Given the description of an element on the screen output the (x, y) to click on. 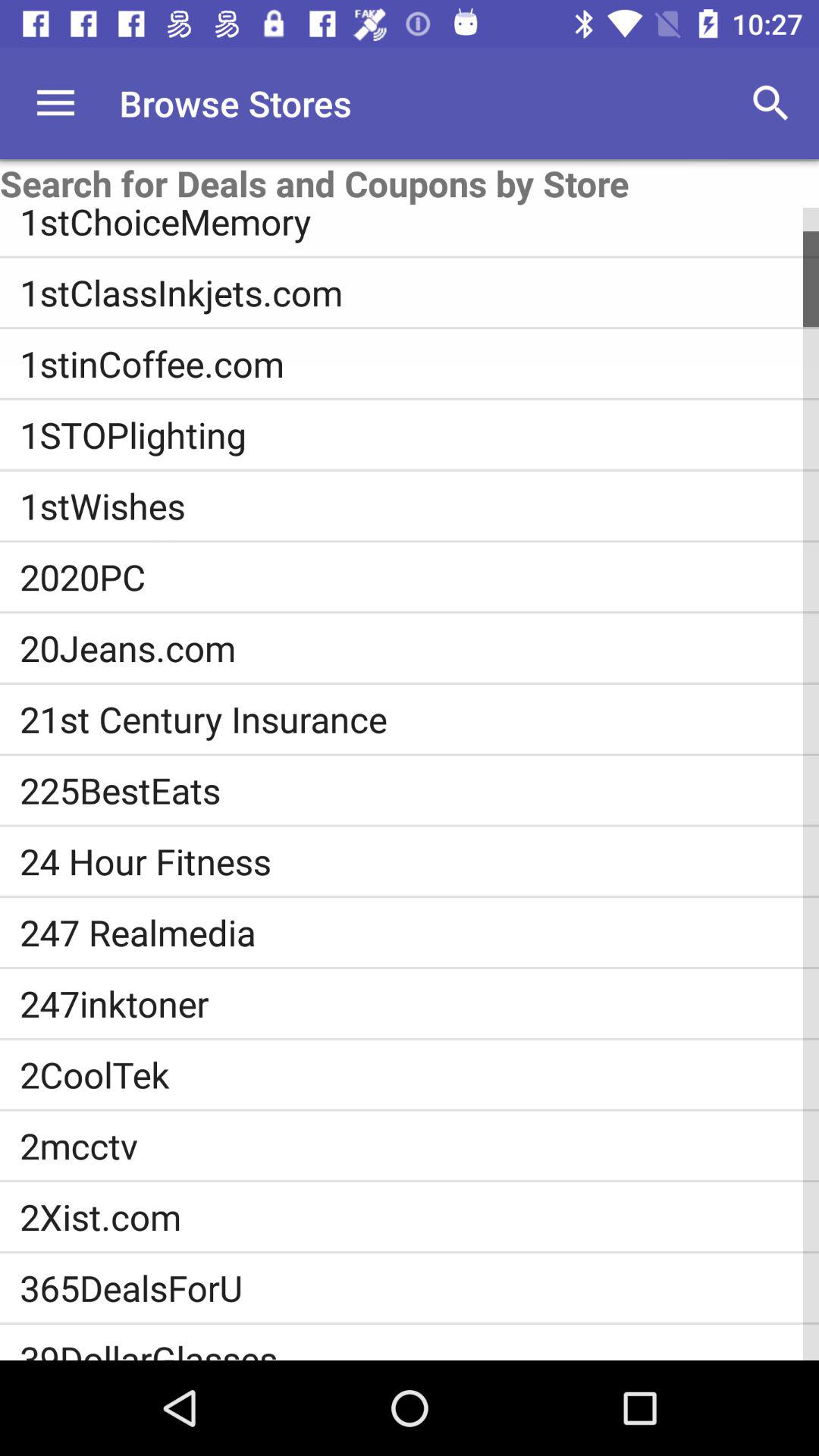
launch icon below 225besteats icon (419, 861)
